Given the description of an element on the screen output the (x, y) to click on. 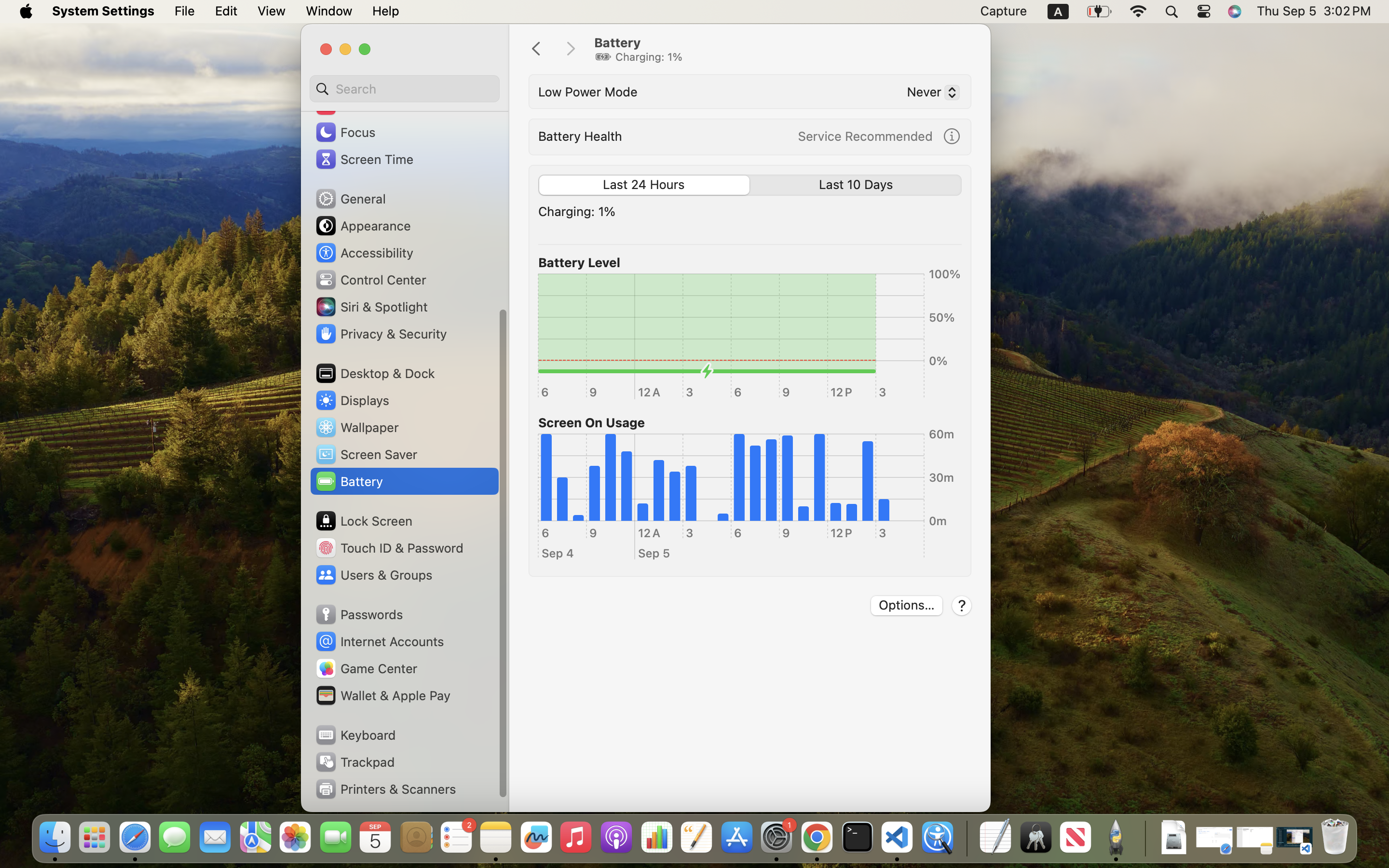
Displays Element type: AXStaticText (351, 399)
